Given the description of an element on the screen output the (x, y) to click on. 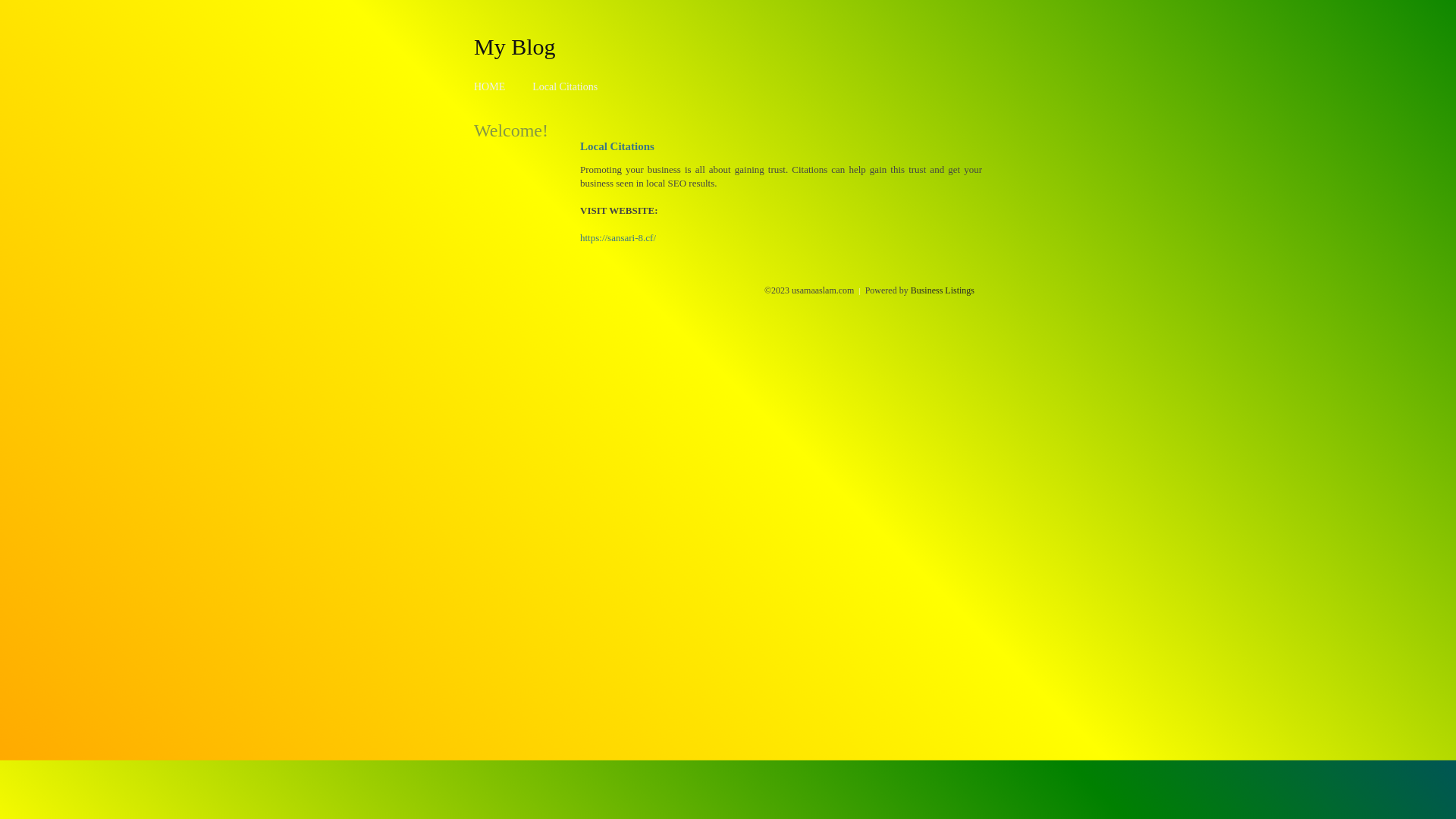
My Blog Element type: text (514, 46)
https://sansari-8.cf/ Element type: text (617, 237)
Business Listings Element type: text (942, 290)
Local Citations Element type: text (564, 86)
HOME Element type: text (489, 86)
